Given the description of an element on the screen output the (x, y) to click on. 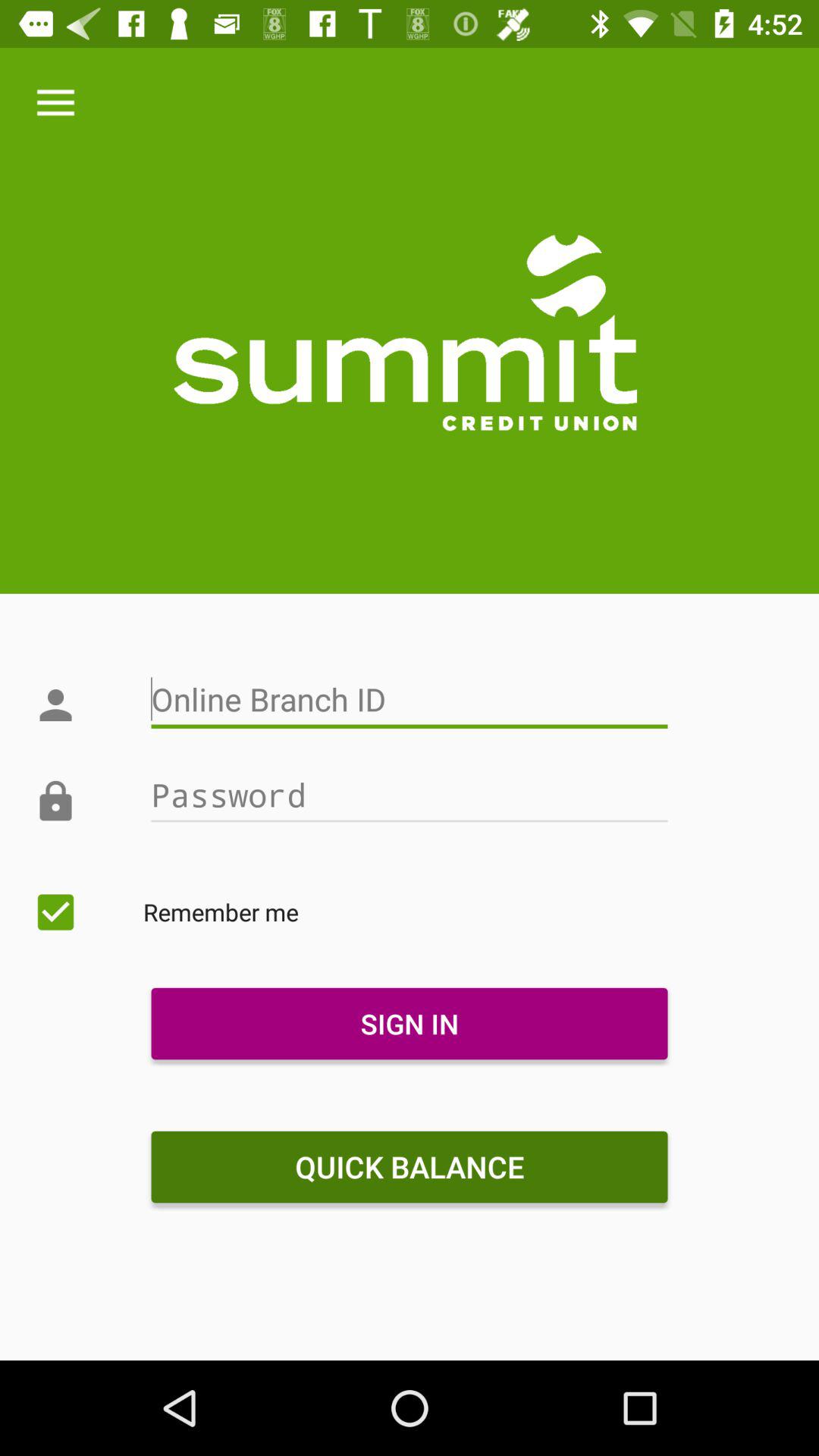
select the icon next to the remember me (55, 912)
